Given the description of an element on the screen output the (x, y) to click on. 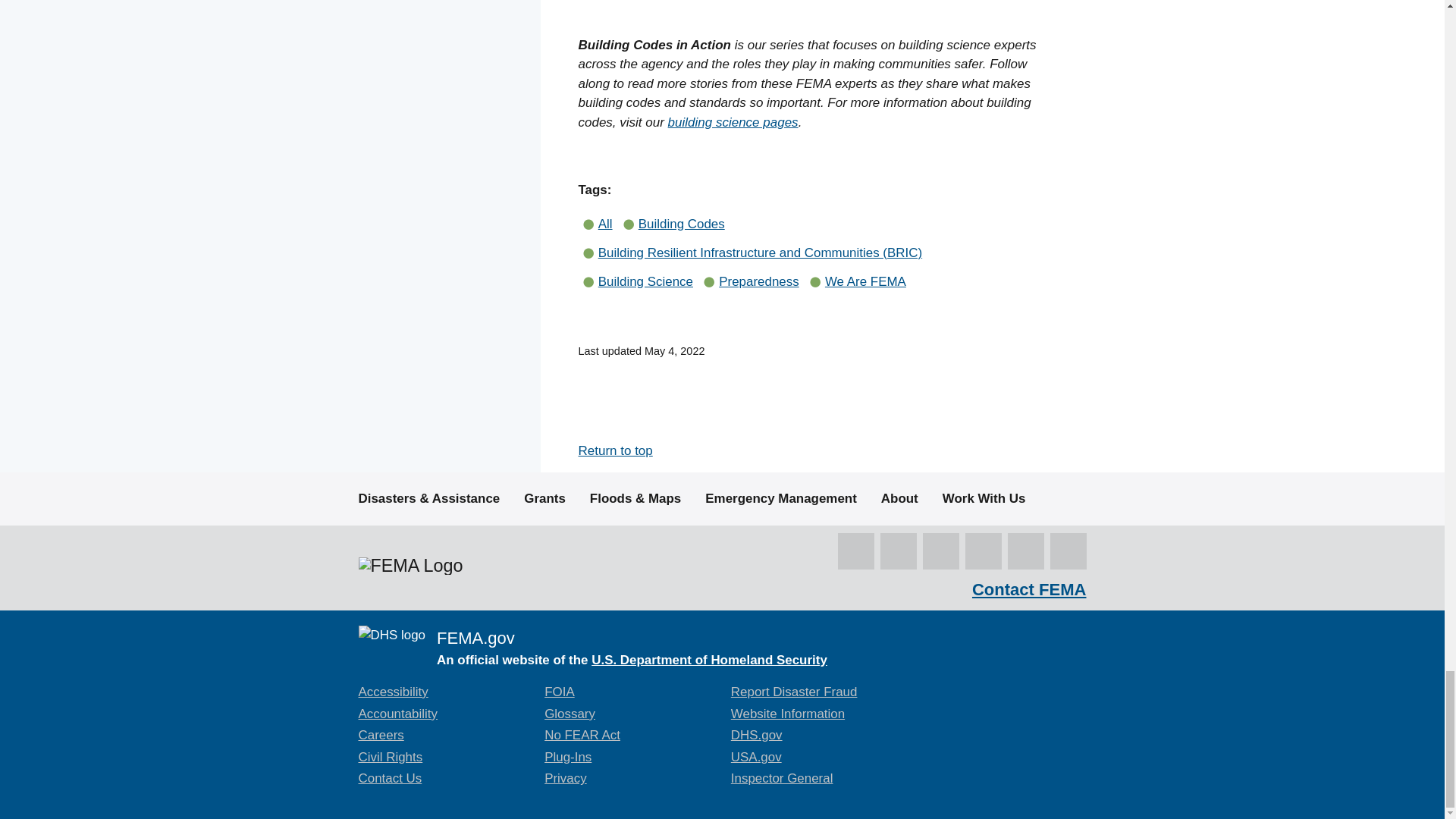
FEMA logo (410, 565)
Wednesday, May 4, 2022 - 18:27 (674, 350)
National Terrorism Advisory System (1021, 693)
